Given the description of an element on the screen output the (x, y) to click on. 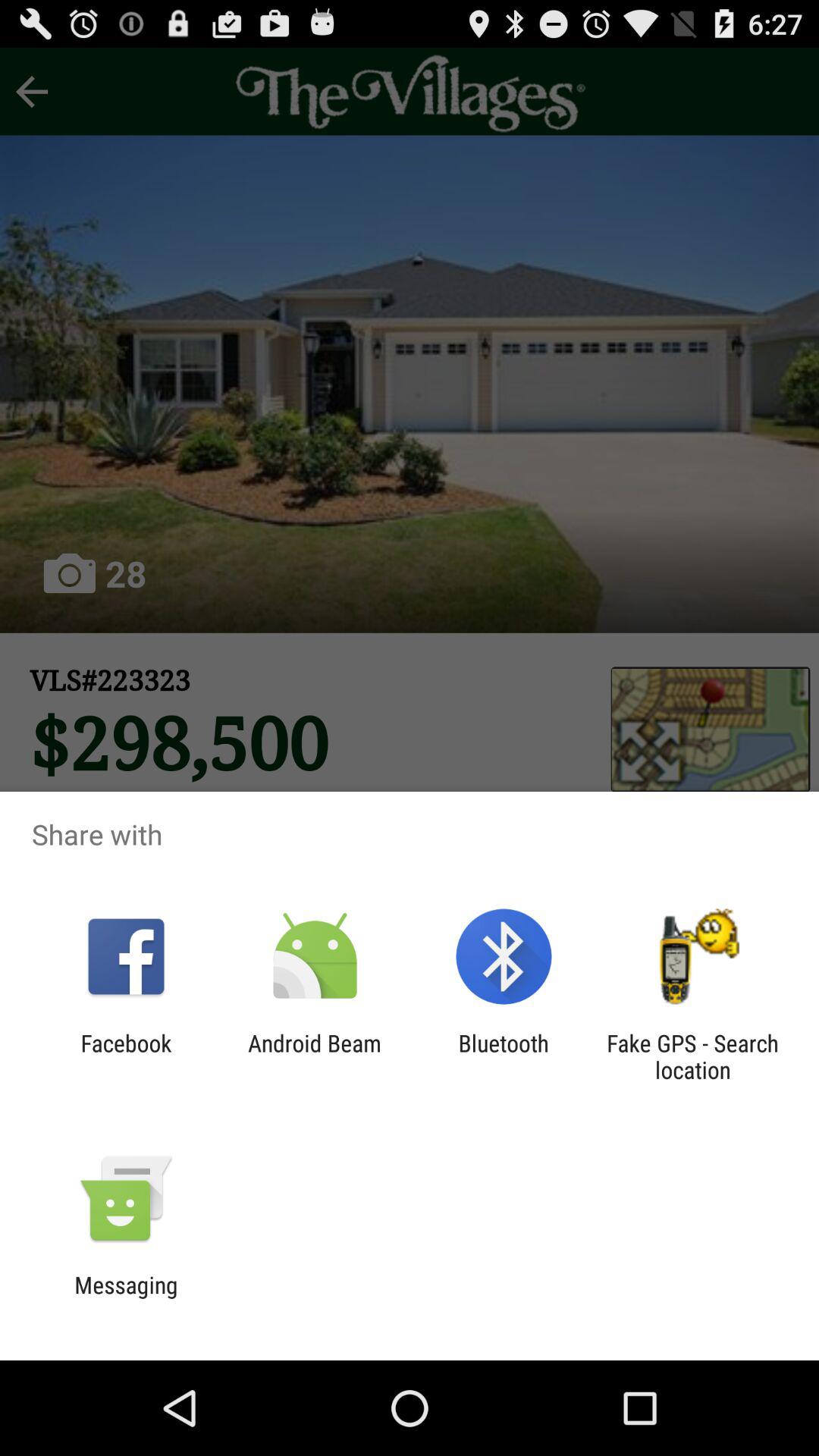
launch the icon next to bluetooth (692, 1056)
